Given the description of an element on the screen output the (x, y) to click on. 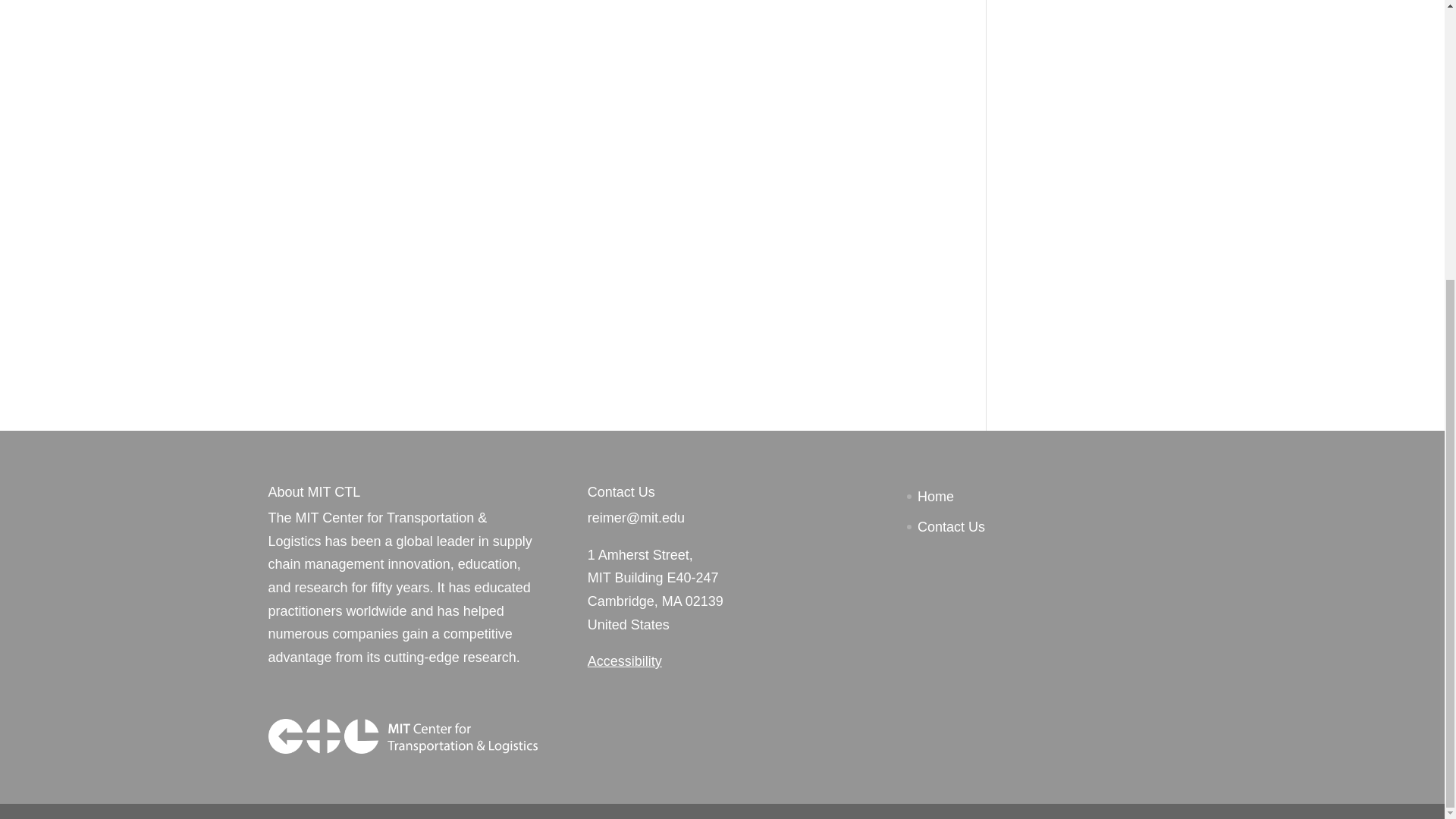
Contact Us (951, 526)
Home (935, 496)
Accessibility (625, 661)
